Given the description of an element on the screen output the (x, y) to click on. 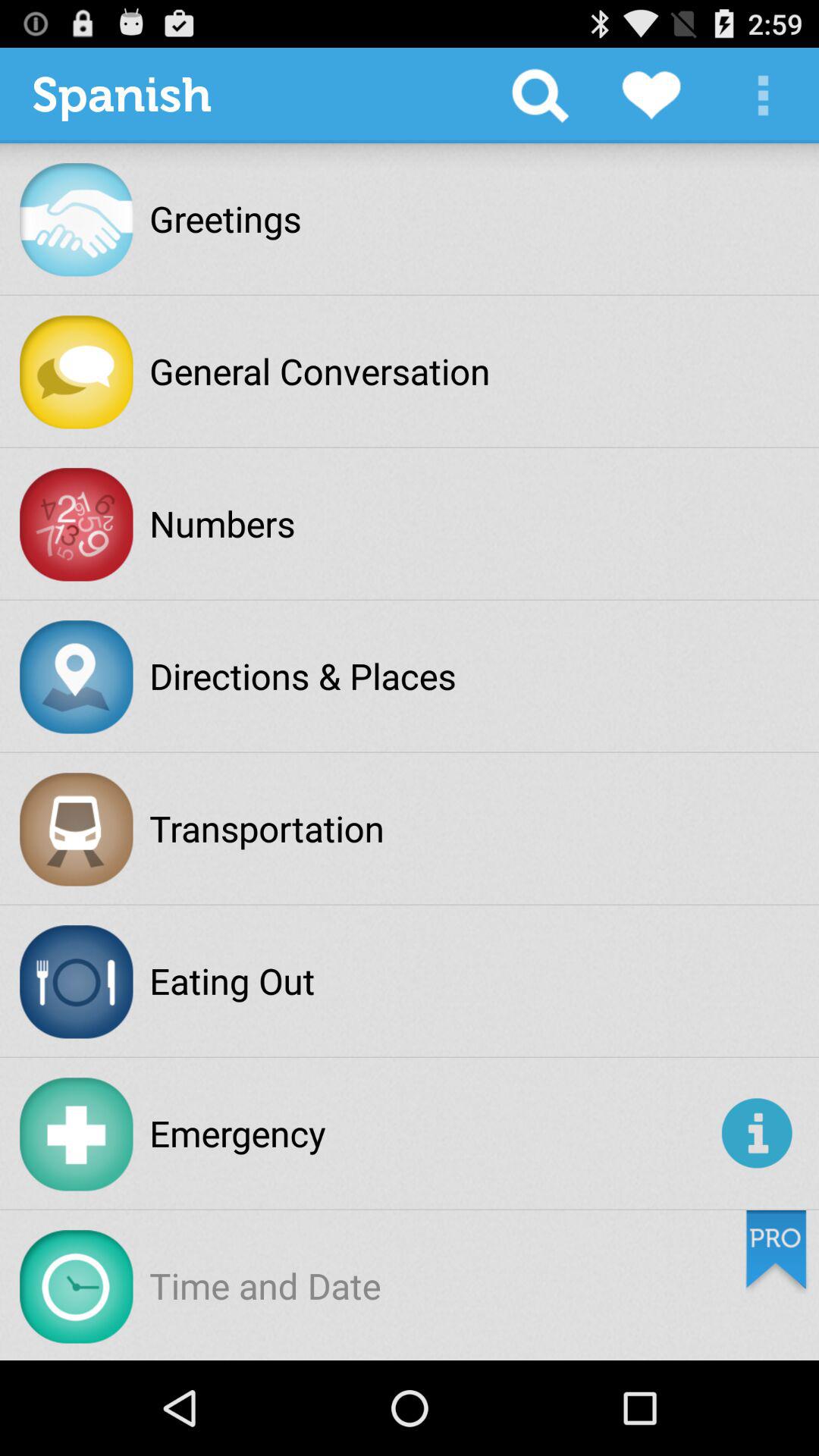
press emergency at the bottom (432, 1133)
